Given the description of an element on the screen output the (x, y) to click on. 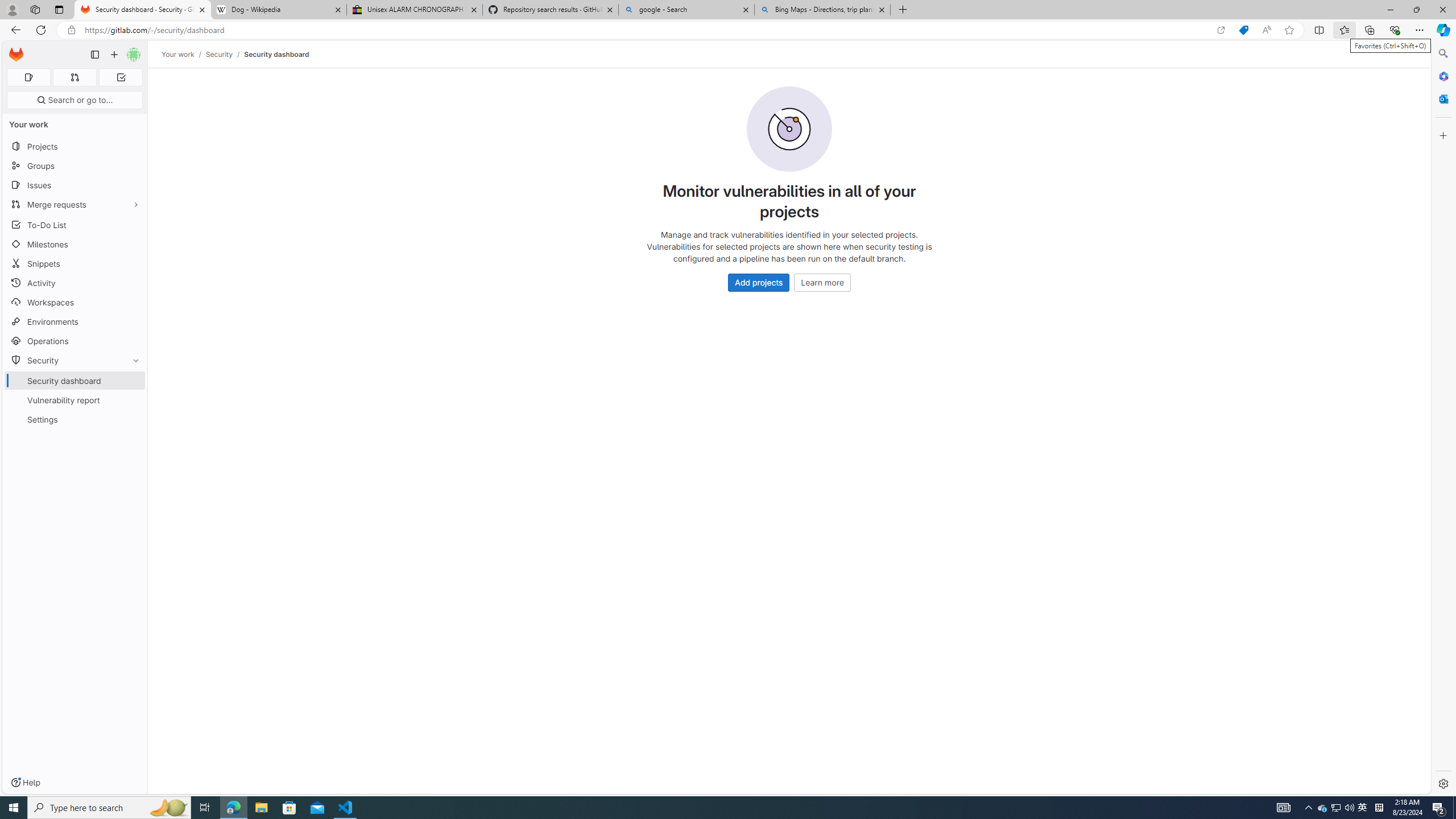
Vulnerability report (74, 399)
Groups (74, 165)
Milestones (74, 244)
SecuritySecurity dashboardVulnerability reportSettings (74, 389)
Your work (178, 53)
Projects (74, 145)
Add projects (759, 282)
Shopping in Microsoft Edge (1243, 29)
Security (218, 53)
Side bar (1443, 418)
Environments (74, 321)
Outlook (1442, 98)
